Given the description of an element on the screen output the (x, y) to click on. 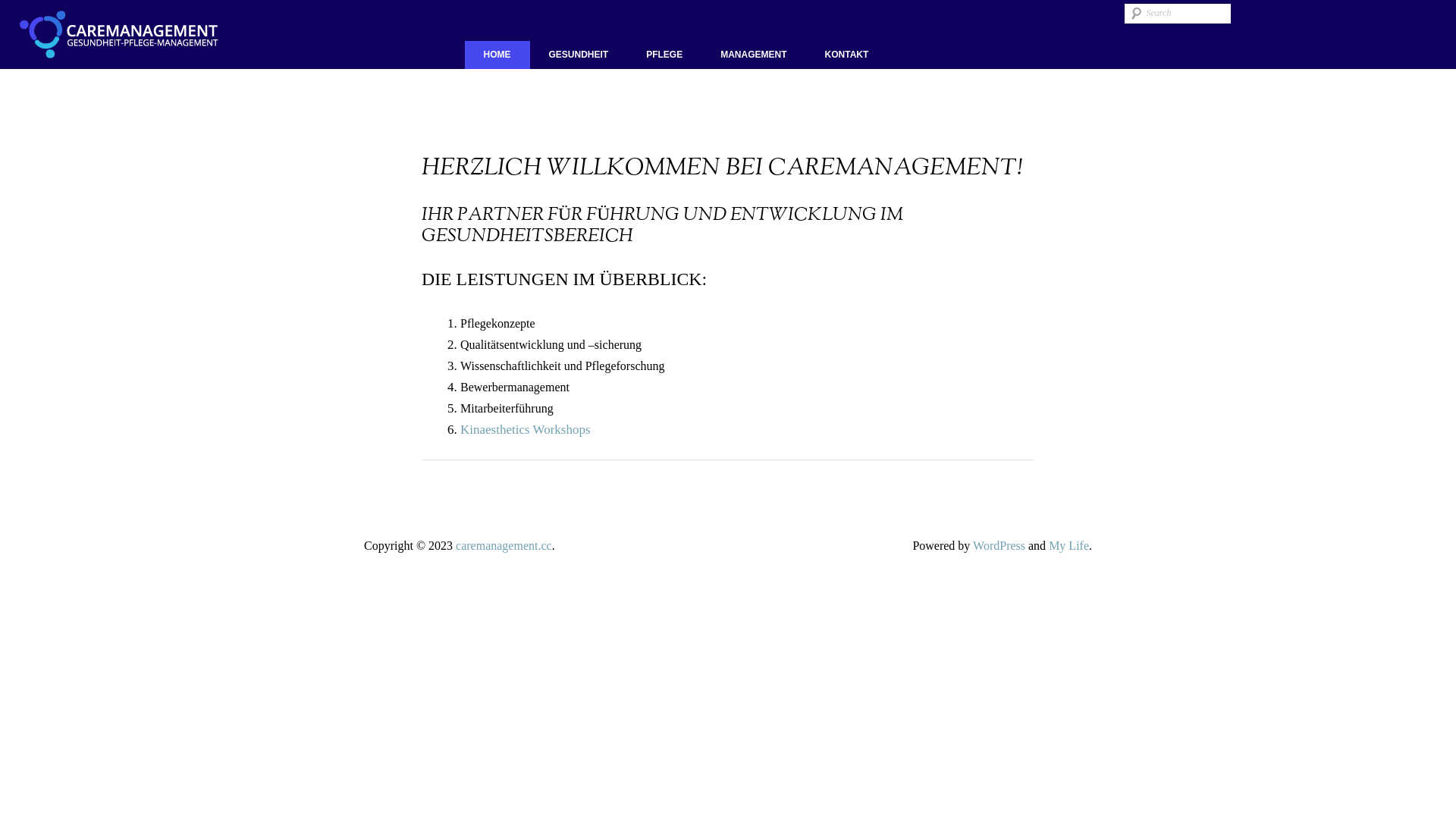
Kinaesthetics Workshops Element type: text (525, 429)
MANAGEMENT Element type: text (753, 54)
HOME Element type: text (496, 54)
PFLEGE Element type: text (664, 54)
caremanagement.cc Element type: text (503, 545)
My Life Element type: text (1068, 545)
KONTAKT Element type: text (847, 54)
WordPress Element type: text (998, 545)
GESUNDHEIT Element type: text (578, 54)
Search Element type: text (21, 9)
